Given the description of an element on the screen output the (x, y) to click on. 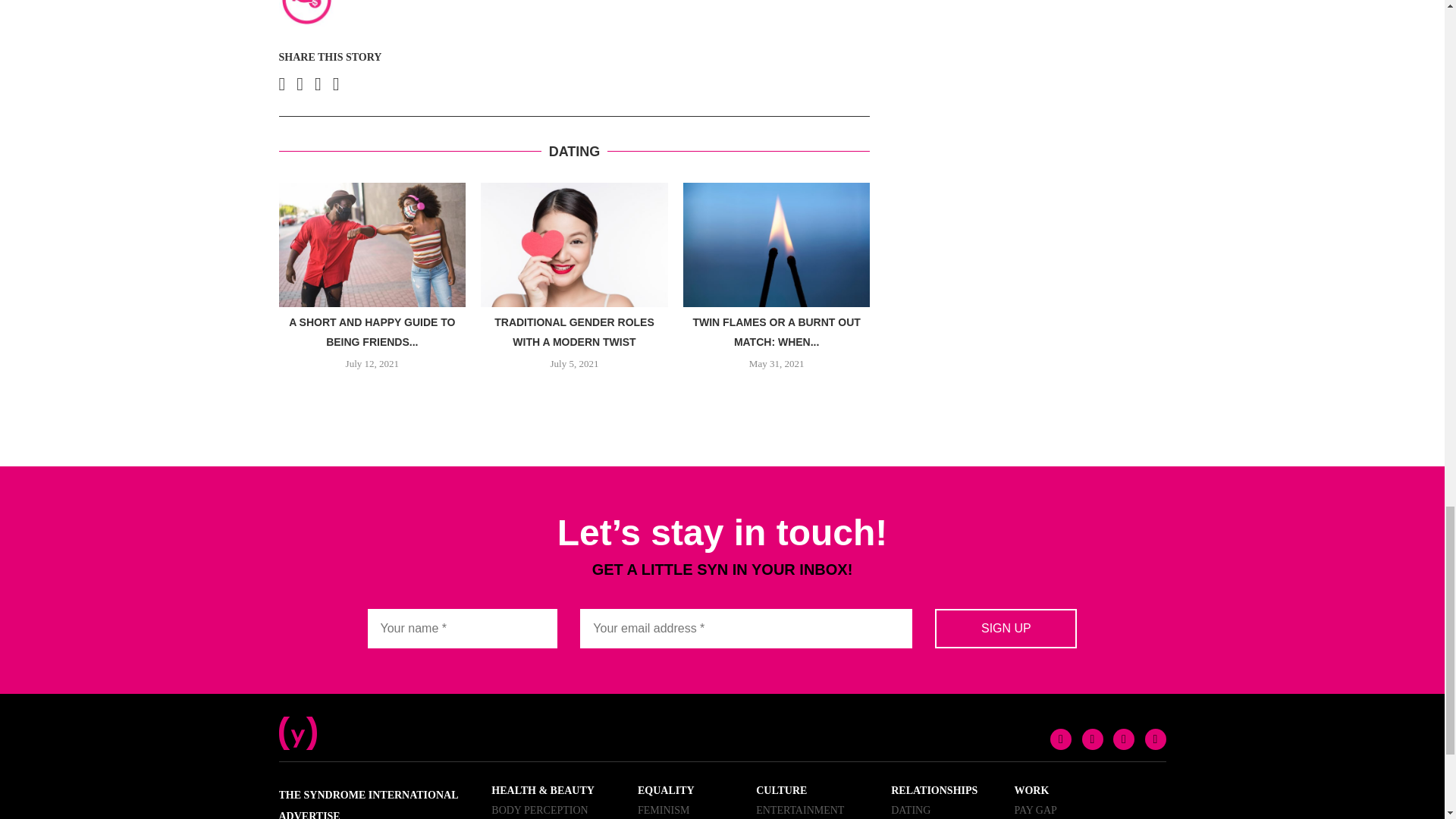
Homepage (298, 722)
Sign Up (1005, 628)
Traditional Gender Roles with a Modern Twist (574, 244)
Twin Flames or a Burnt Out Match: When to Choose You (776, 244)
A Short and Happy Guide to Being Friends With Your Ex (372, 244)
